Given the description of an element on the screen output the (x, y) to click on. 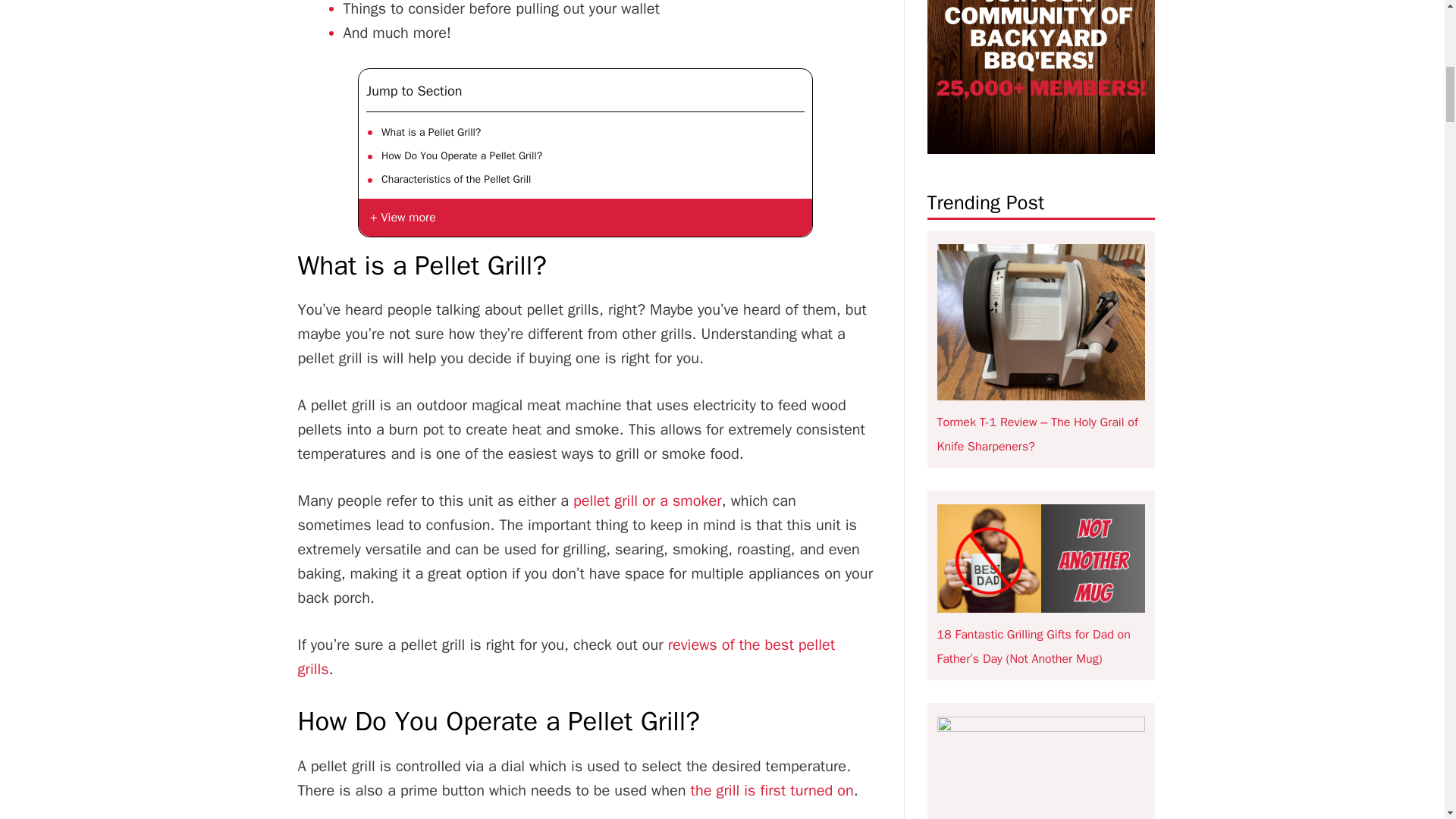
Characteristics of the Pellet Grill (456, 179)
How Do You Operate a Pellet Grill? (461, 156)
What is a Pellet Grill? (430, 132)
What is a Pellet Grill? (430, 132)
How Do You Operate a Pellet Grill? (461, 156)
Characteristics of the Pellet Grill (456, 179)
